Given the description of an element on the screen output the (x, y) to click on. 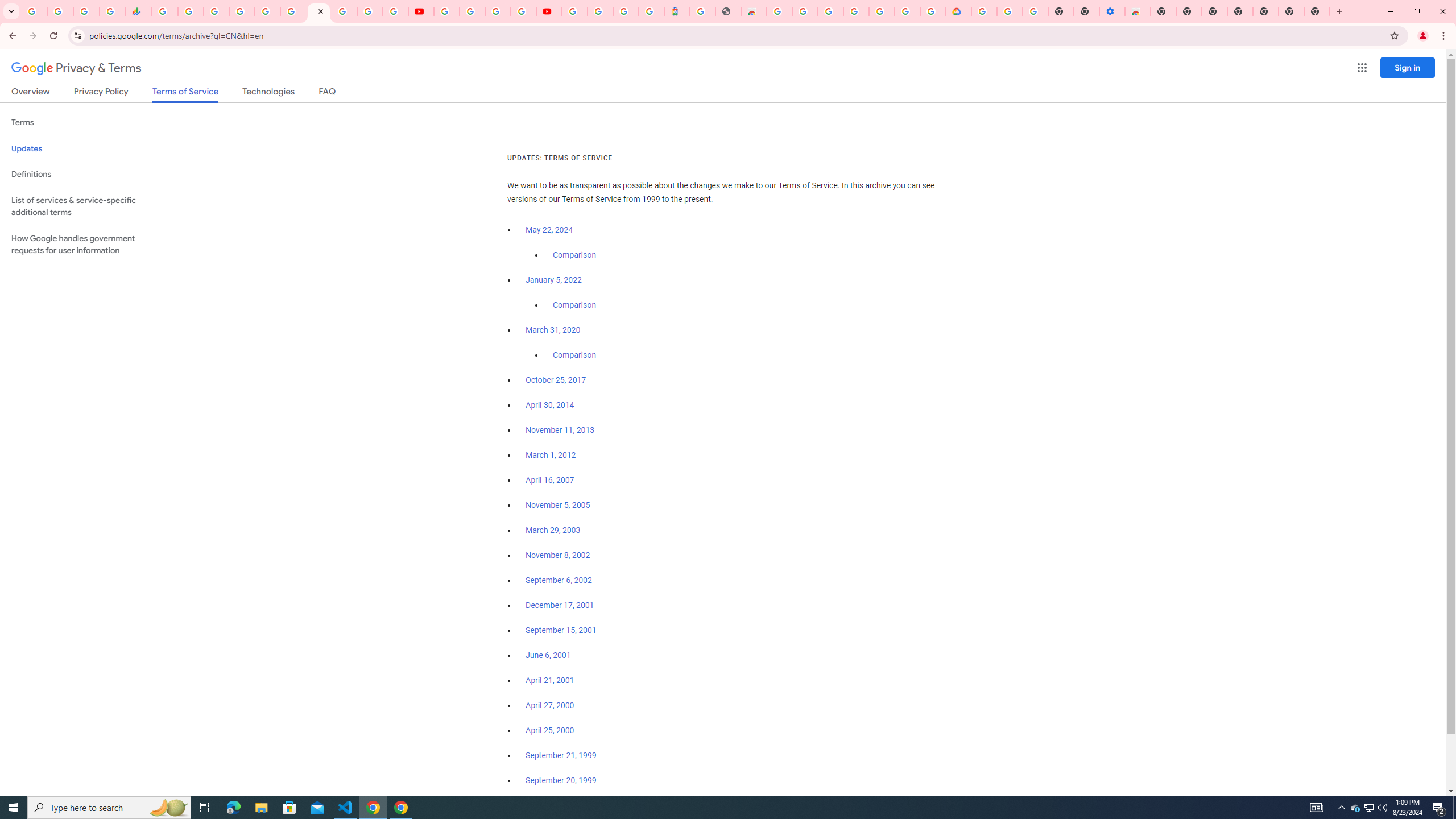
March 29, 2003 (552, 530)
Settings - Accessibility (1111, 11)
Privacy & Terms (76, 68)
Privacy Policy (100, 93)
Sign in - Google Accounts (574, 11)
List of services & service-specific additional terms (86, 206)
Privacy Checkup (395, 11)
March 31, 2020 (552, 330)
